Given the description of an element on the screen output the (x, y) to click on. 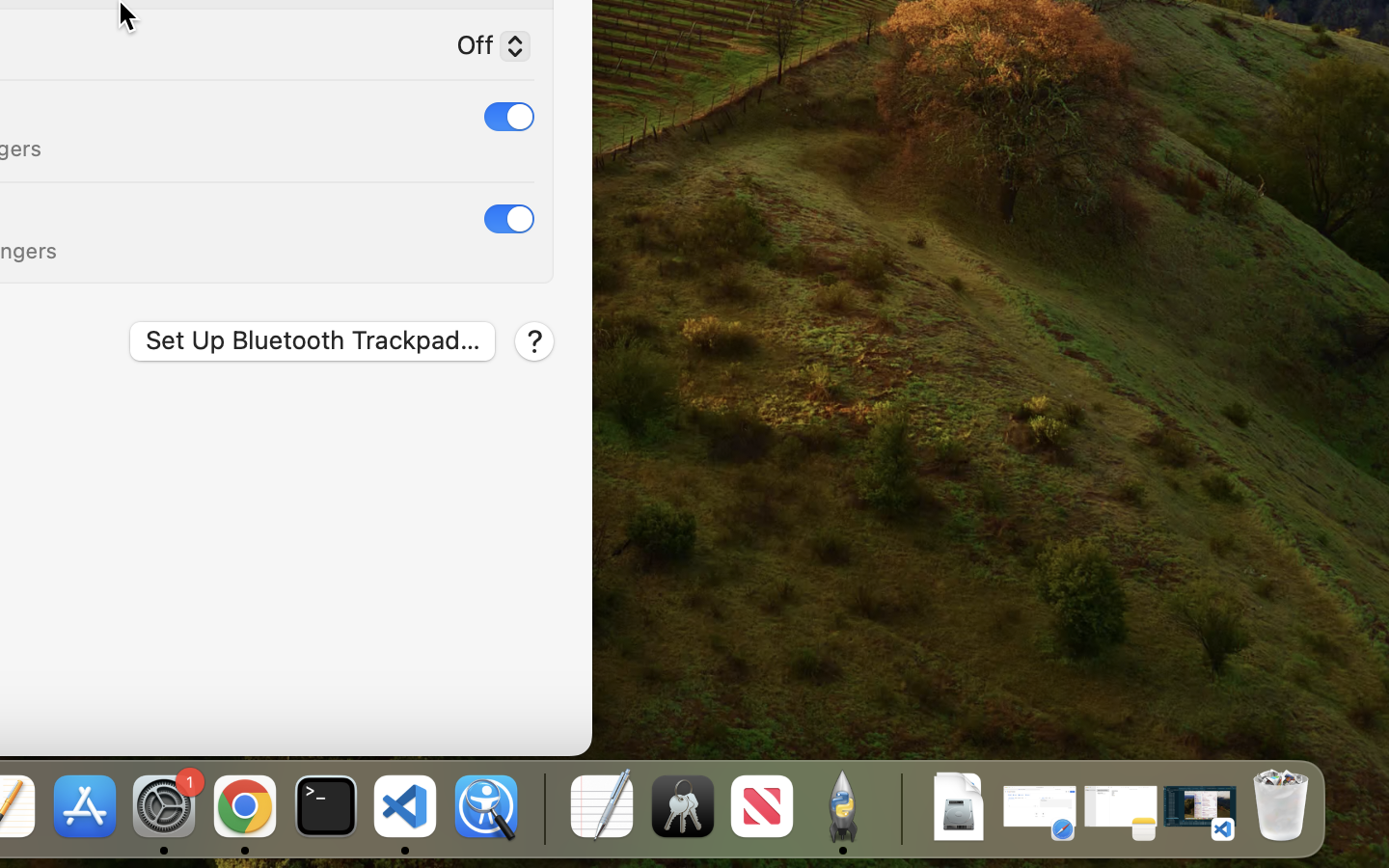
Off Element type: AXPopUpButton (485, 49)
